Given the description of an element on the screen output the (x, y) to click on. 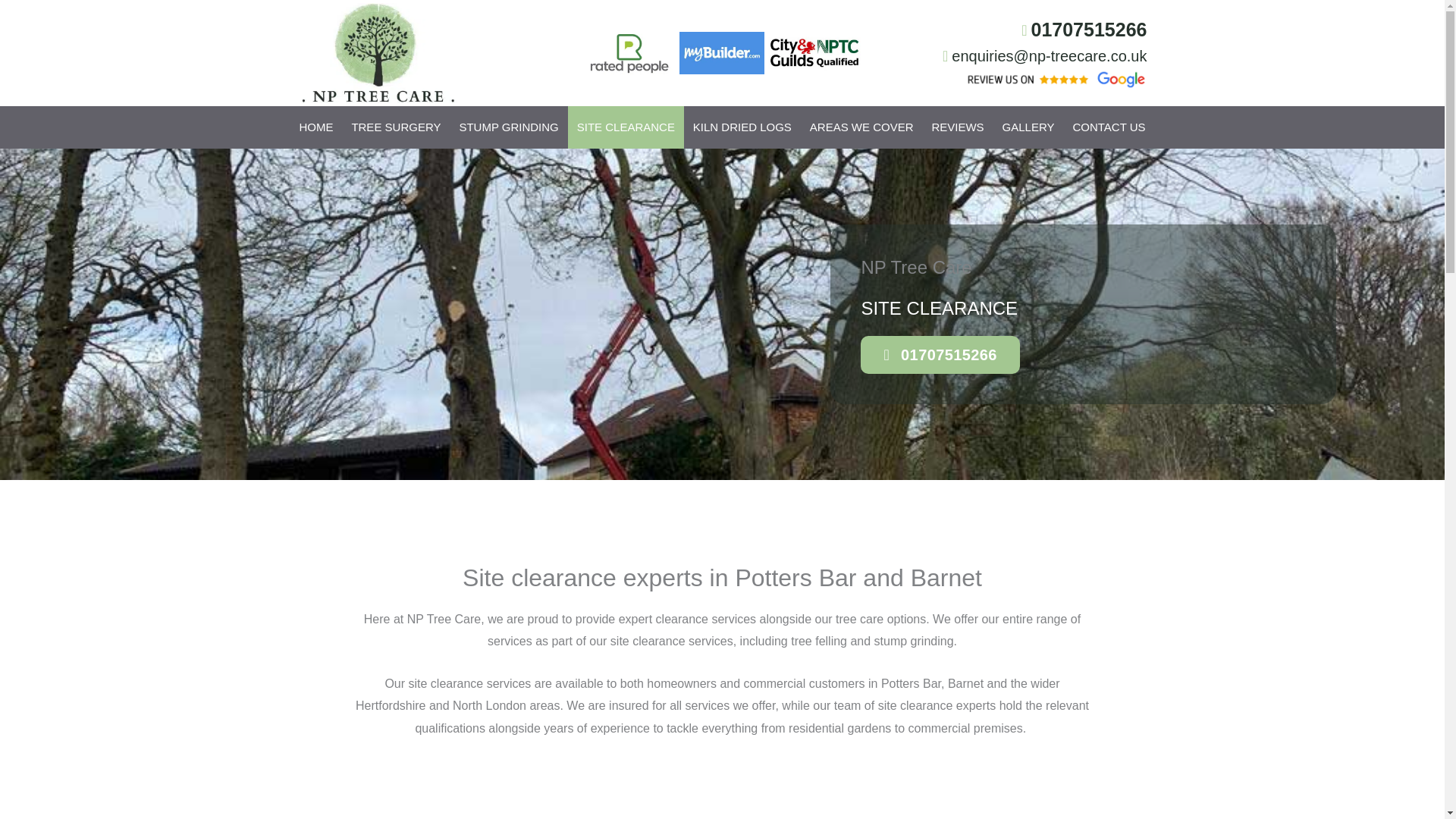
AREAS WE COVER (861, 127)
REVIEWS (956, 127)
SITE CLEARANCE (625, 127)
01707515266 (1022, 354)
CONTACT US (1108, 127)
01707515266 (1010, 30)
KILN DRIED LOGS (742, 127)
STUMP GRINDING (508, 127)
TREE SURGERY (395, 127)
HOME (315, 127)
GALLERY (1028, 127)
